Given the description of an element on the screen output the (x, y) to click on. 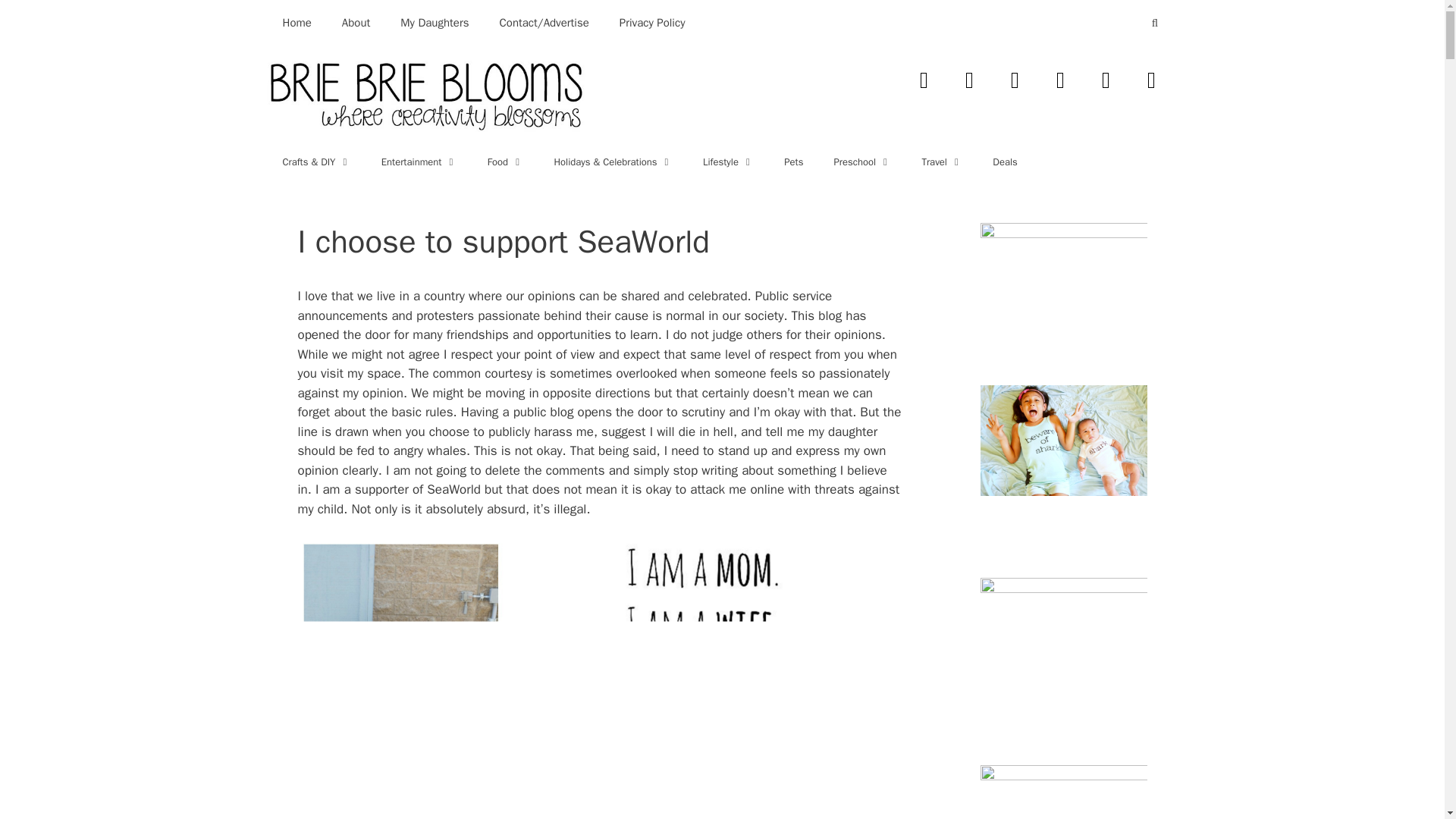
Twitter (968, 79)
LinkedIn (1105, 79)
Pinterest (1150, 79)
About (355, 22)
Facebook (923, 79)
Food (504, 162)
My Daughters (434, 22)
YouTube (1060, 79)
Home (296, 22)
Privacy Policy (652, 22)
Entertainment (418, 162)
Instagram (1013, 79)
